Given the description of an element on the screen output the (x, y) to click on. 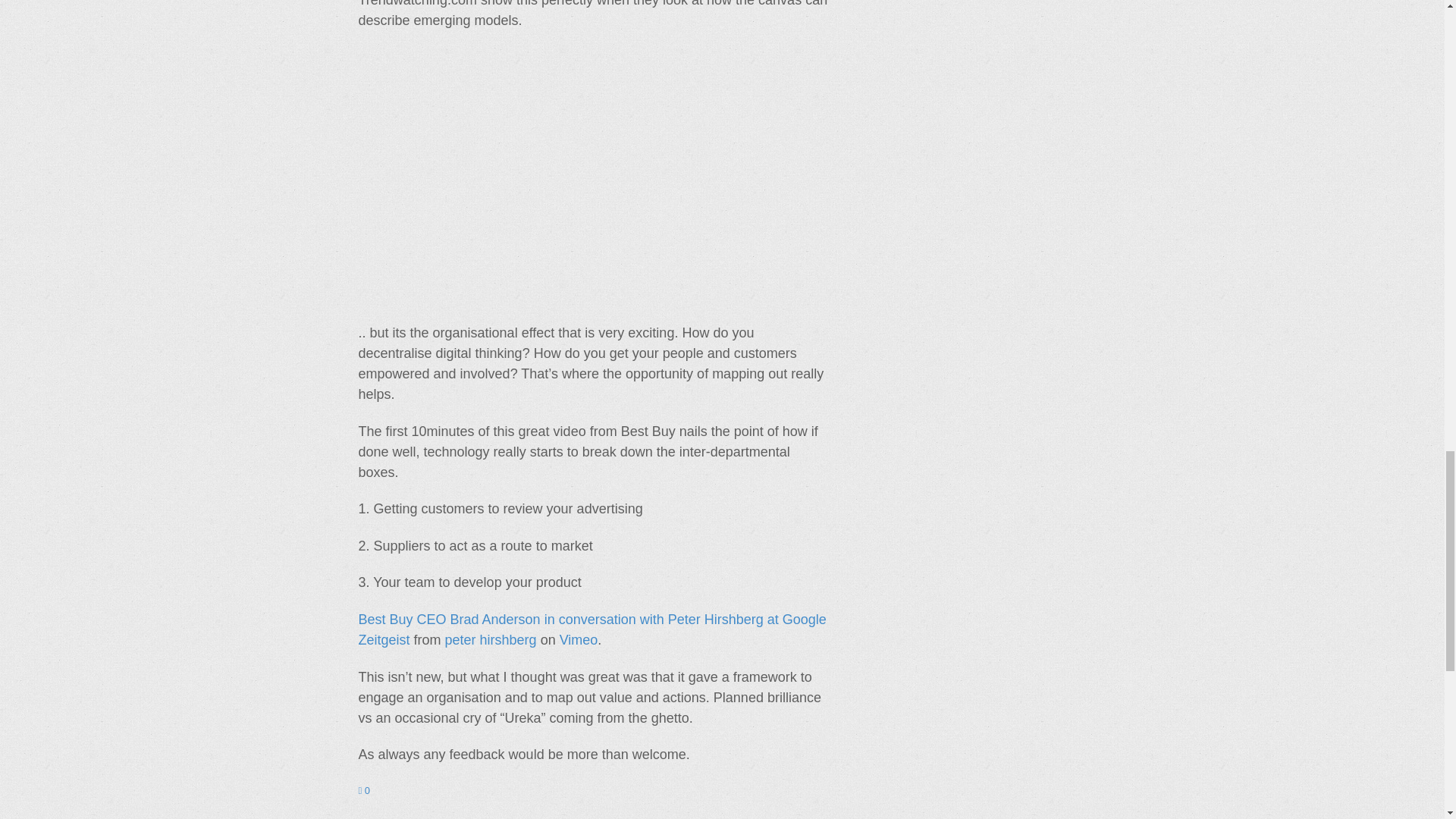
0 (363, 790)
Vimeo (578, 639)
peter hirshberg (491, 639)
